Given the description of an element on the screen output the (x, y) to click on. 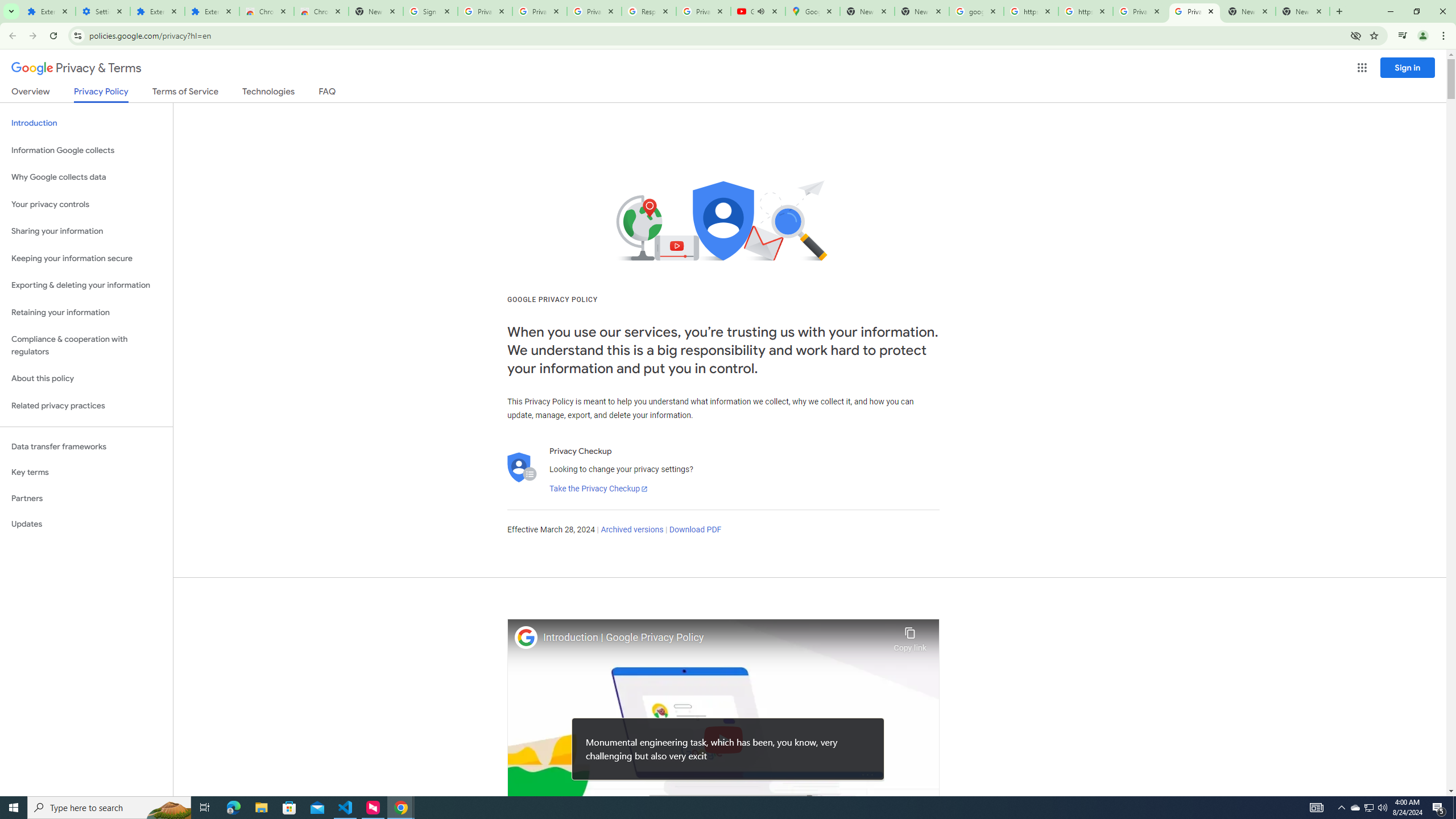
Settings (102, 11)
Photo image of Google (526, 636)
Chrome Web Store - Themes (320, 11)
